Given the description of an element on the screen output the (x, y) to click on. 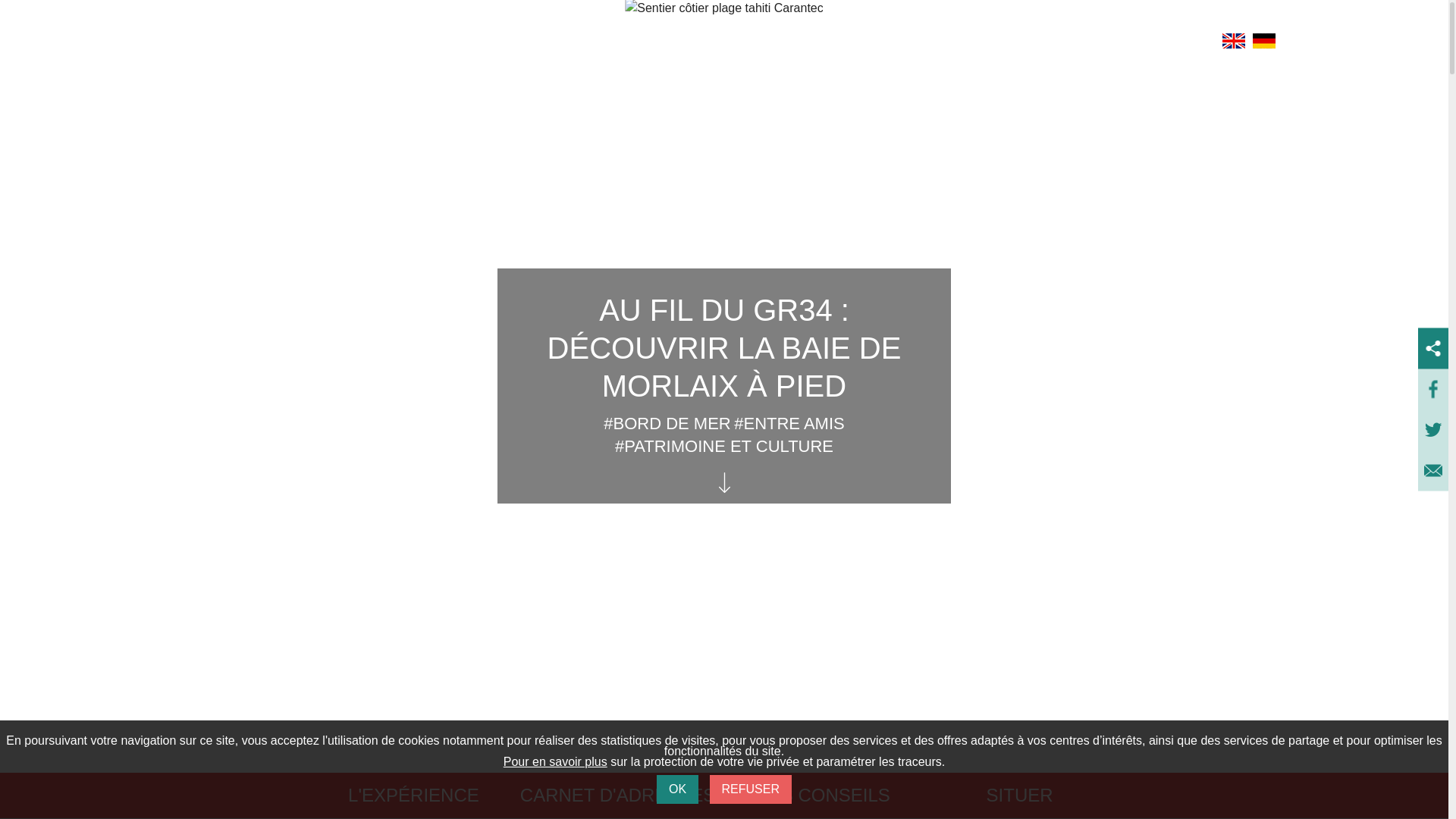
PROFITER Element type: text (967, 41)
Baie de Morlaix Bretagne - Bienvenue en Baie de Morlaix ! Element type: hover (132, 40)
Lien pour partager la page courante sur twitter Element type: hover (1433, 430)
CARNET D'ADRESSES Element type: text (617, 795)
REFUSER Element type: text (750, 789)
PRATIQUE Element type: text (1123, 41)
OK Element type: text (677, 789)
Lien pour partager la page courante sur facebook Element type: hover (1433, 389)
Pour en savoir plus Element type: text (555, 762)
Lien pour partager la page courante par mail Element type: hover (1433, 471)
Lien vers la page de billetterie Element type: hover (1310, 40)
PLANIFIER Element type: text (810, 41)
Lien pour partager la page courante Element type: hover (1433, 349)
SITUER Element type: text (1019, 795)
NOS CONSEILS Element type: text (821, 795)
